Given the description of an element on the screen output the (x, y) to click on. 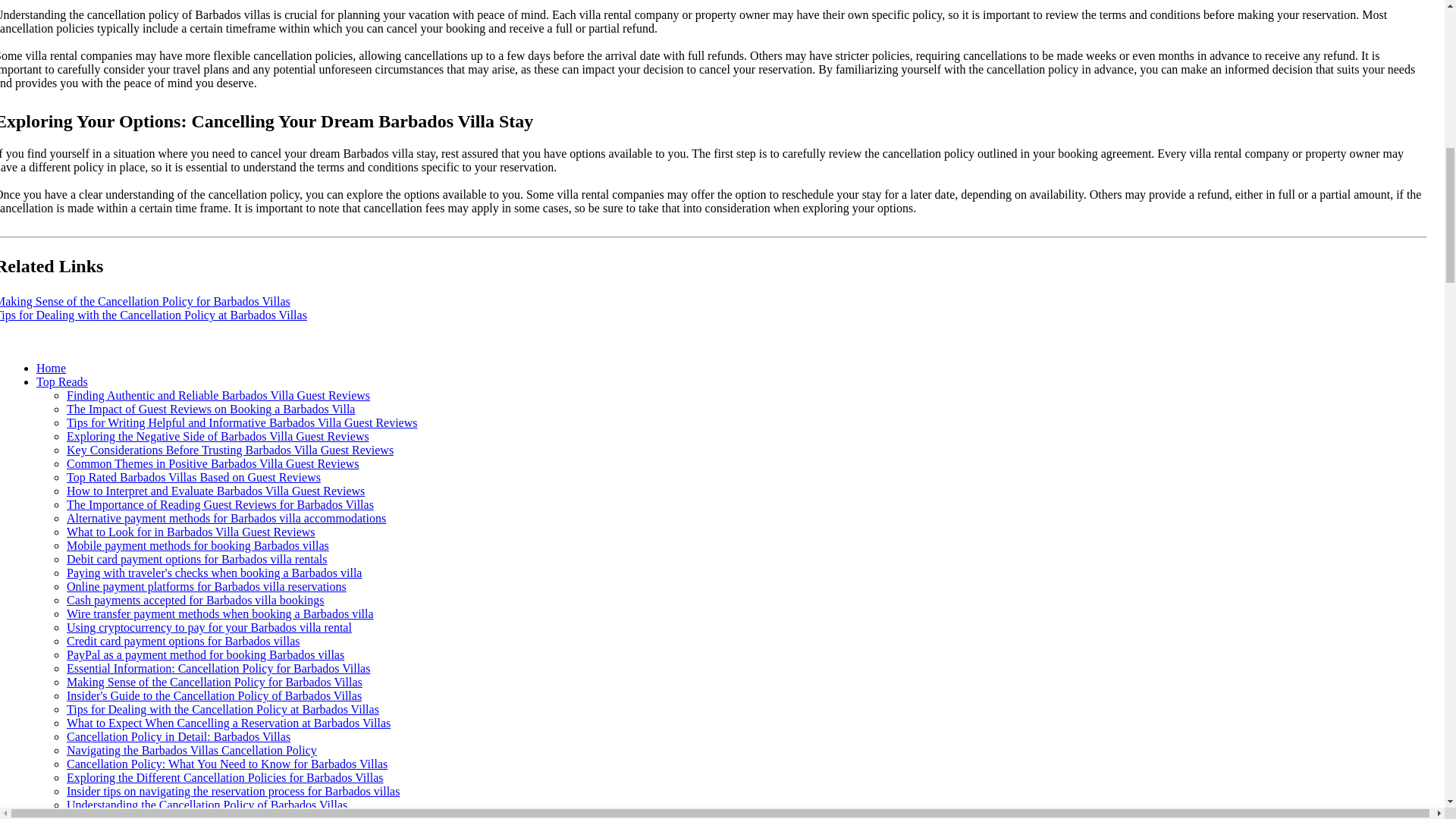
Home (50, 367)
Cancellation Policy in Detail: Barbados Villas (177, 736)
Common Themes in Positive Barbados Villa Guest Reviews (212, 463)
Online payment platforms for Barbados villa reservations (206, 585)
Mobile payment methods for booking Barbados villas (197, 545)
PayPal as a payment method for booking Barbados villas (204, 654)
Exploring the Negative Side of Barbados Villa Guest Reviews (217, 436)
Making Sense of the Cancellation Policy for Barbados Villas (144, 300)
Making Sense of the Cancellation Policy for Barbados Villas (214, 681)
Top Reads (61, 381)
